Given the description of an element on the screen output the (x, y) to click on. 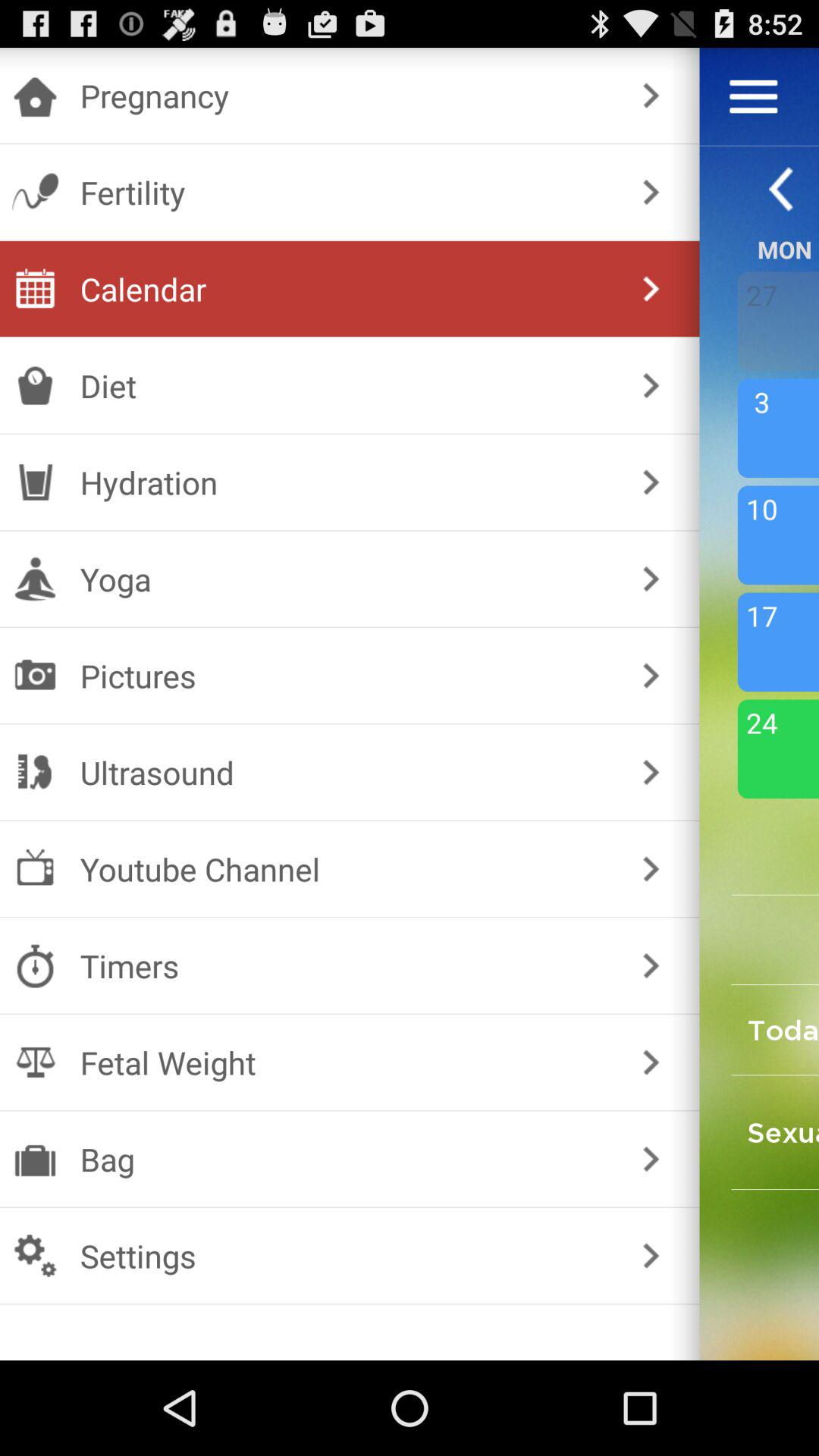
turn on the checkbox above timers item (346, 868)
